Given the description of an element on the screen output the (x, y) to click on. 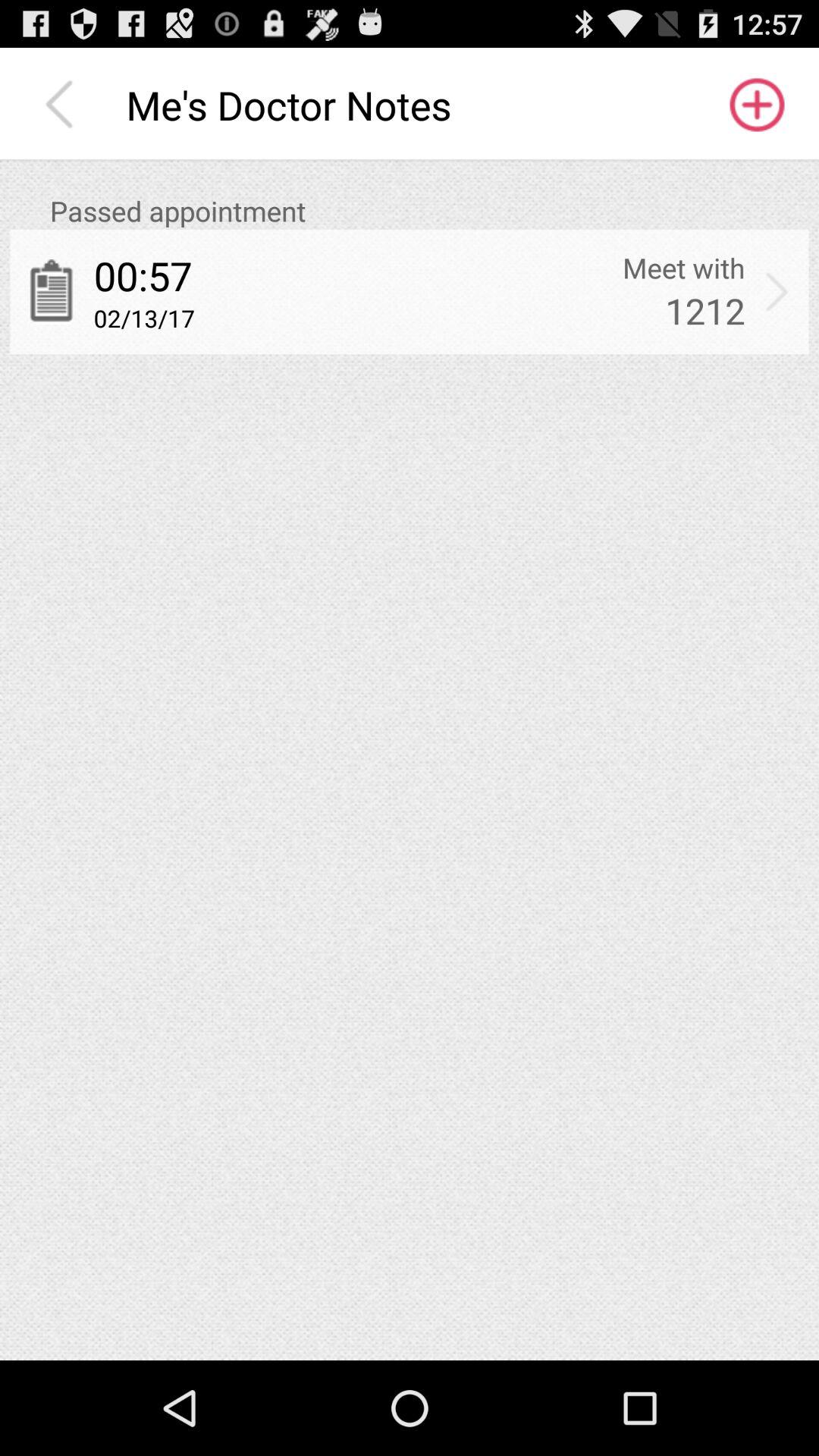
click the passed appointment app (429, 210)
